Given the description of an element on the screen output the (x, y) to click on. 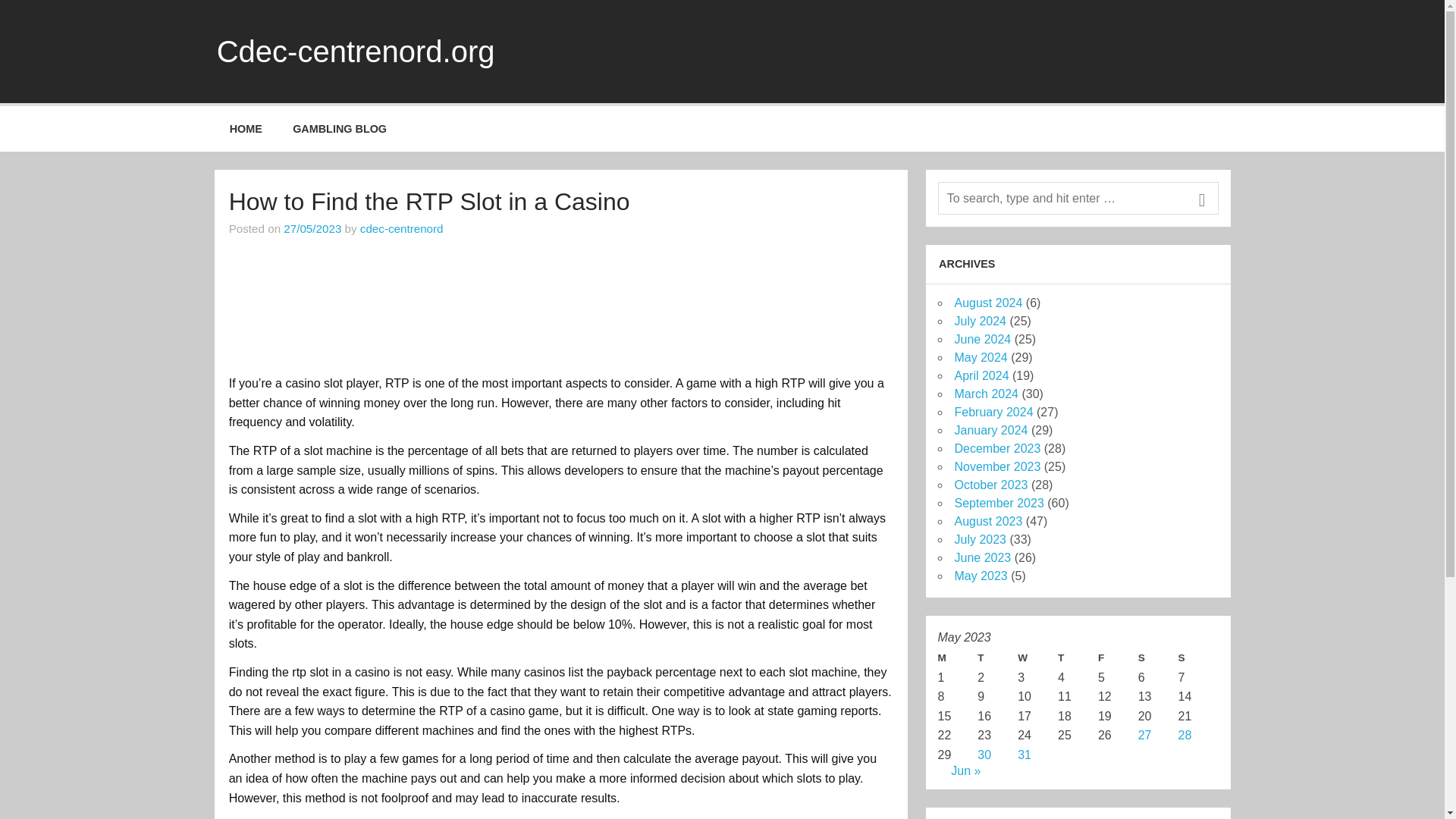
31 (1023, 754)
Friday (1117, 658)
June 2023 (981, 557)
30 (983, 754)
Sunday (1197, 658)
GAMBLING BLOG (339, 128)
March 2024 (985, 393)
Thursday (1077, 658)
August 2023 (987, 521)
Monday (956, 658)
August 2024 (987, 302)
April 2024 (981, 375)
June 2024 (981, 338)
Cdec-centrenord.org (355, 51)
Saturday (1157, 658)
